Given the description of an element on the screen output the (x, y) to click on. 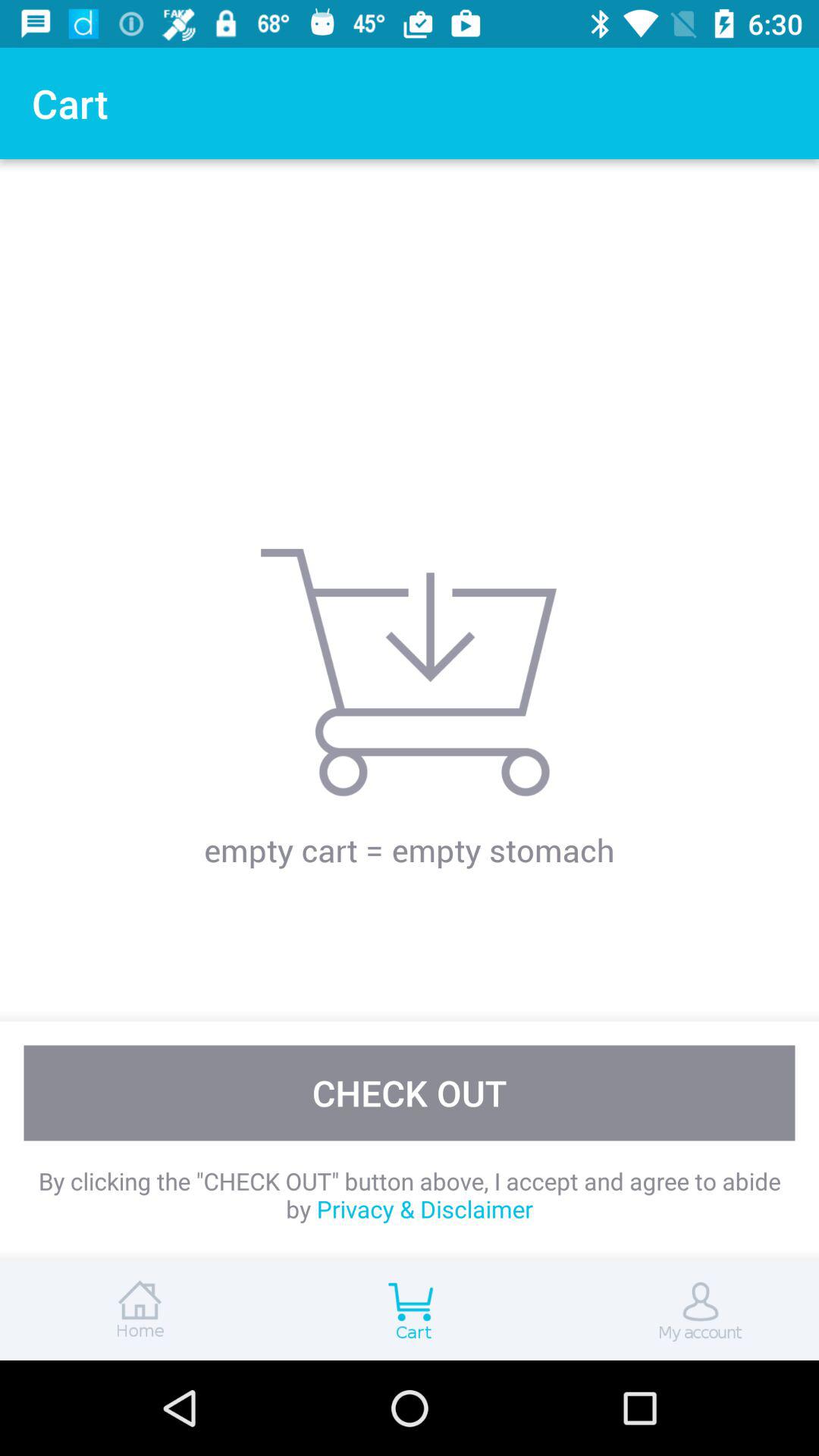
click to go home (136, 1310)
